Given the description of an element on the screen output the (x, y) to click on. 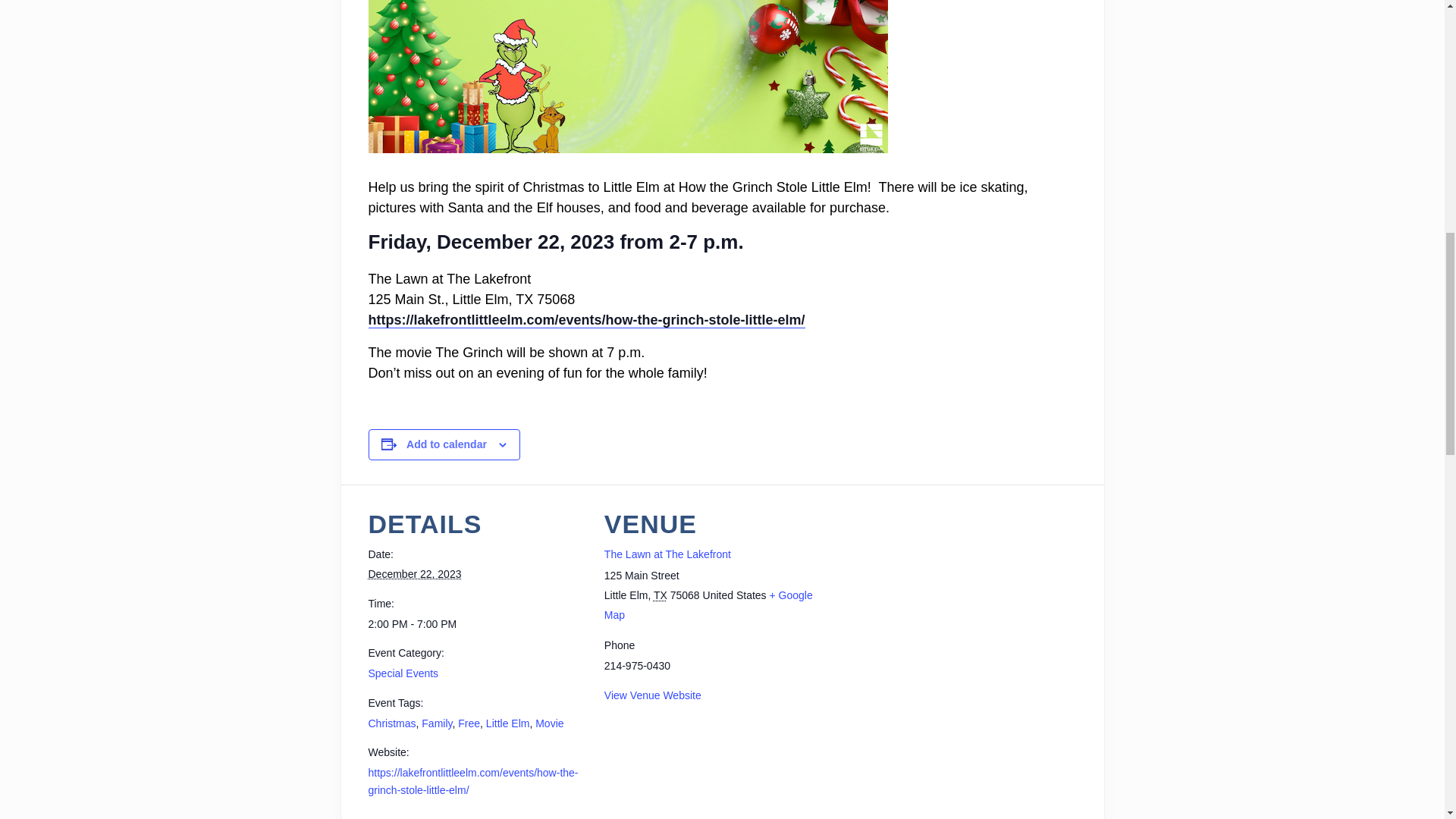
2023-12-22 (414, 573)
2023-12-22 (477, 624)
Texas (659, 594)
Click to view a Google Map (708, 604)
